Given the description of an element on the screen output the (x, y) to click on. 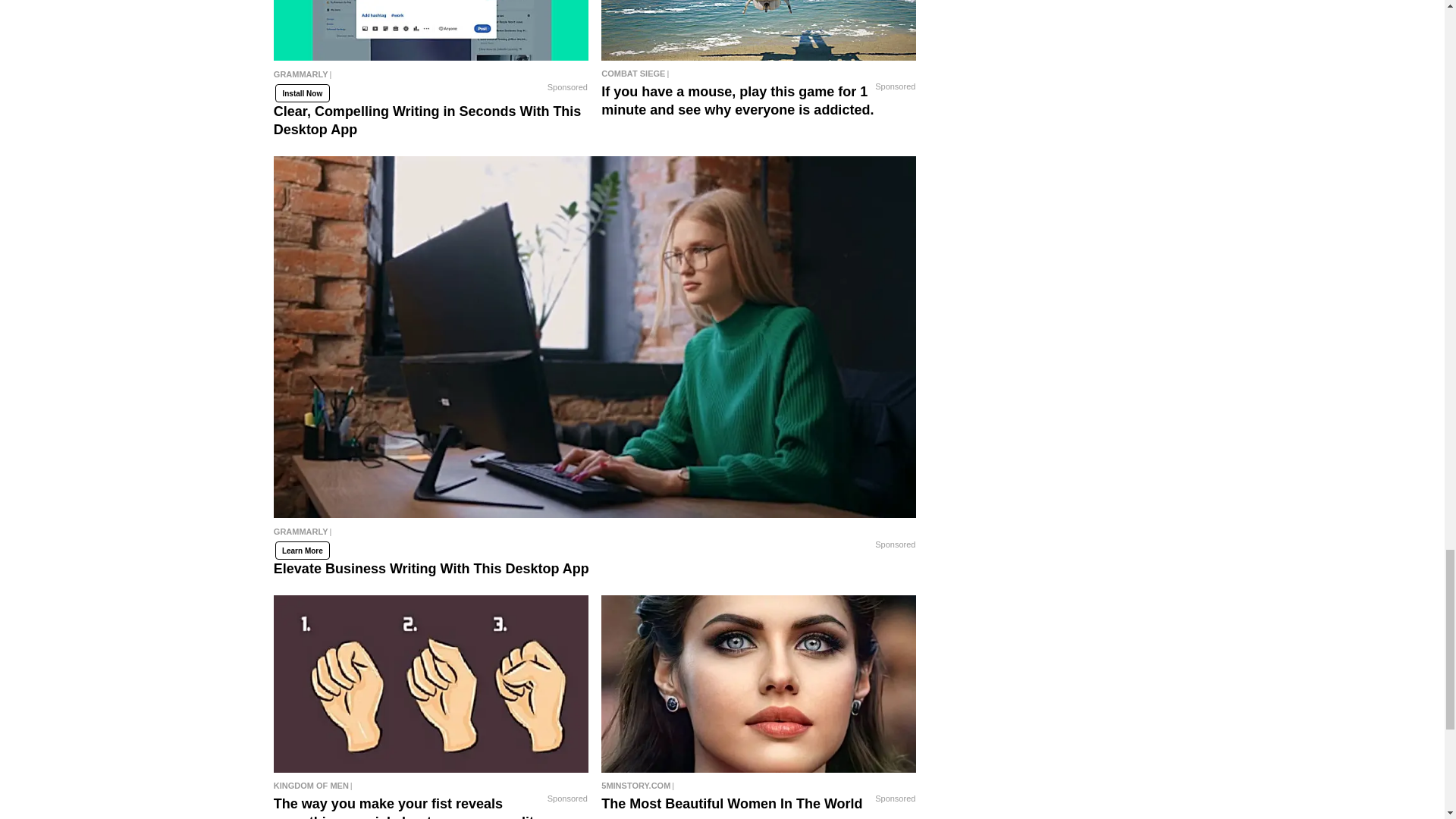
The Most Beautiful Women In The World (758, 684)
Clear, Compelling Writing in Seconds With This Desktop App (430, 30)
The Most Beautiful Women In The World (758, 785)
Elevate Business Writing With This Desktop App (595, 534)
Clear, Compelling Writing in Seconds With This Desktop App (430, 77)
